Given the description of an element on the screen output the (x, y) to click on. 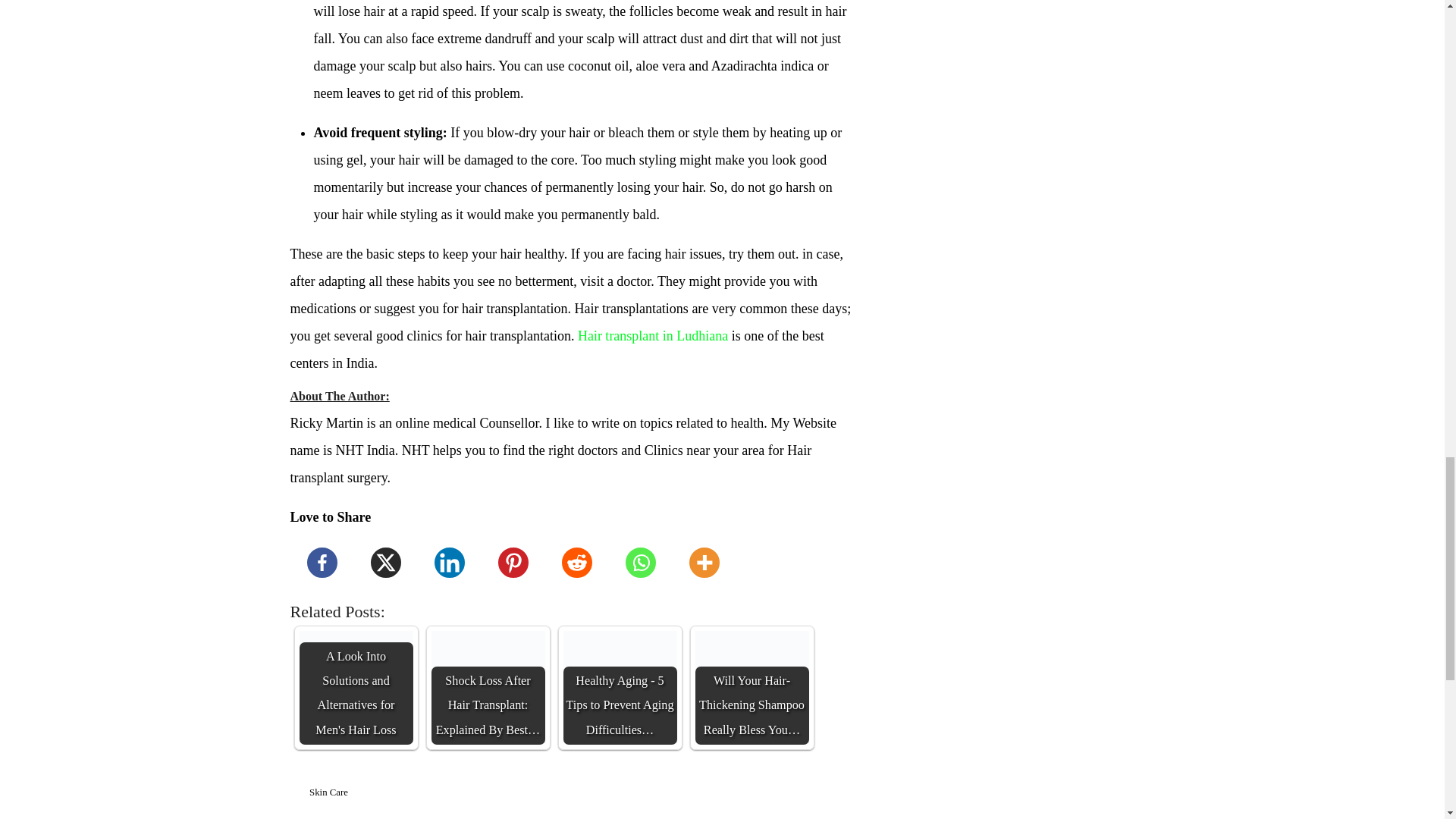
X (384, 562)
Reddit (576, 562)
A Look Into Solutions and Alternatives for Men's Hair Loss (355, 687)
A Look Into Solutions and Alternatives for Men's Hair Loss (355, 687)
Skin Care (327, 792)
Whatsapp (639, 562)
Facebook (321, 562)
More (702, 562)
Linkedin (449, 562)
Hair transplant in Ludhiana (653, 335)
Pinterest (512, 562)
